Given the description of an element on the screen output the (x, y) to click on. 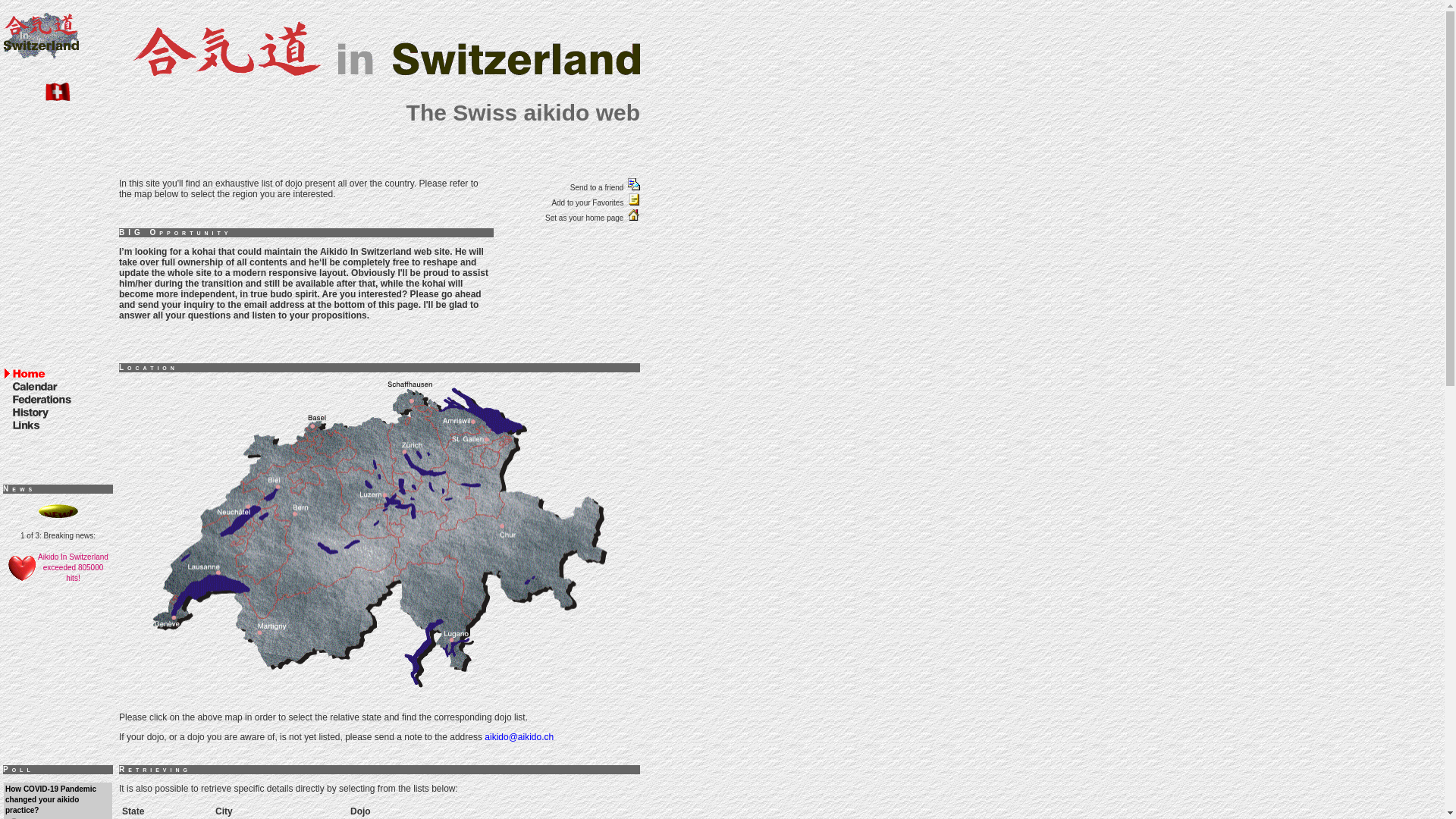
aikido@aikido.ch Element type: text (518, 736)
